Given the description of an element on the screen output the (x, y) to click on. 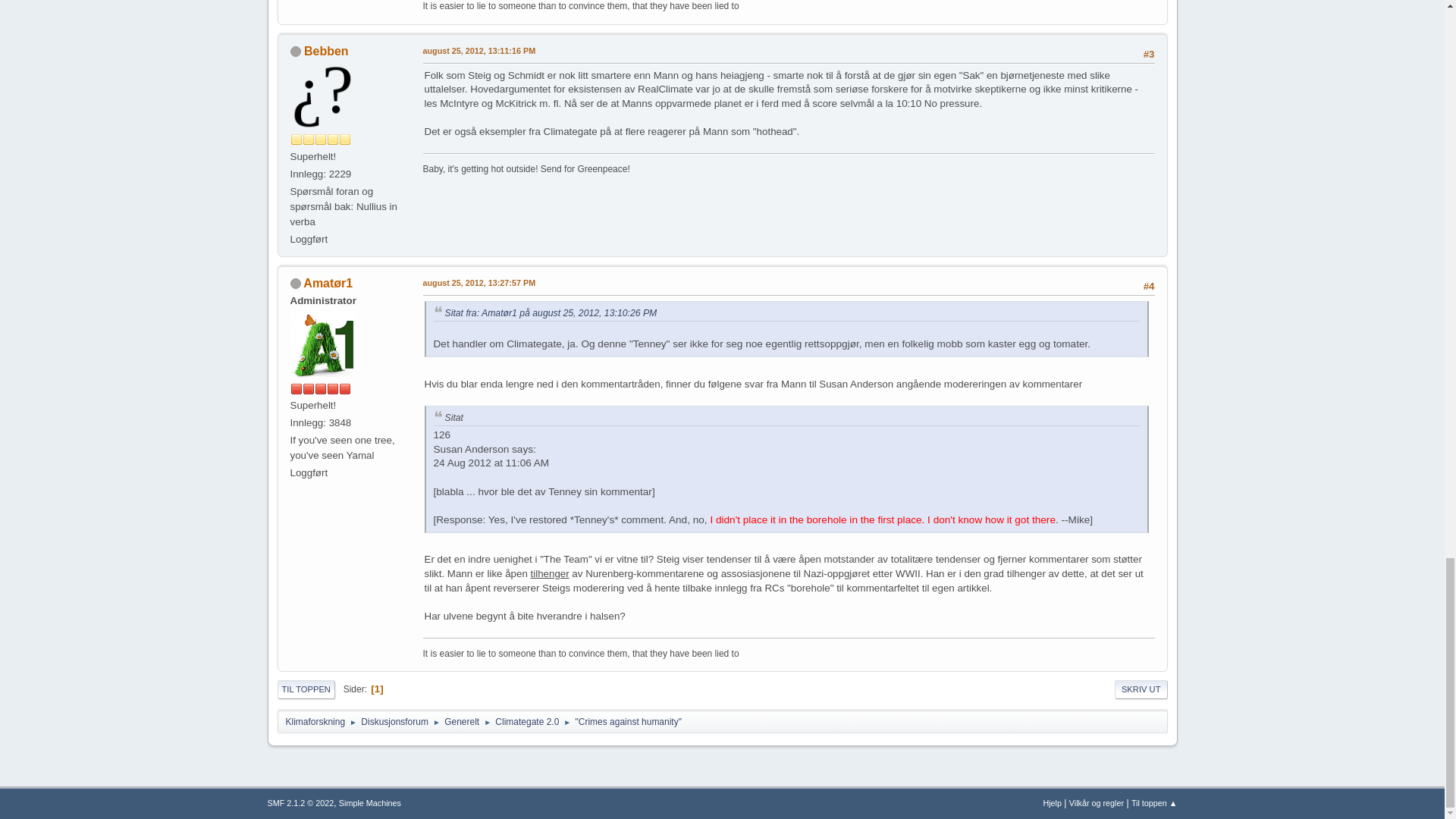
License (299, 802)
Simple Machines (370, 802)
Utlogget (294, 50)
Utlogget (294, 283)
august 25, 2012, 13:11:16 PM (479, 51)
august 25, 2012, 13:27:57 PM (479, 283)
Bebben (326, 51)
Vis profilen til Bebben (326, 51)
